Given the description of an element on the screen output the (x, y) to click on. 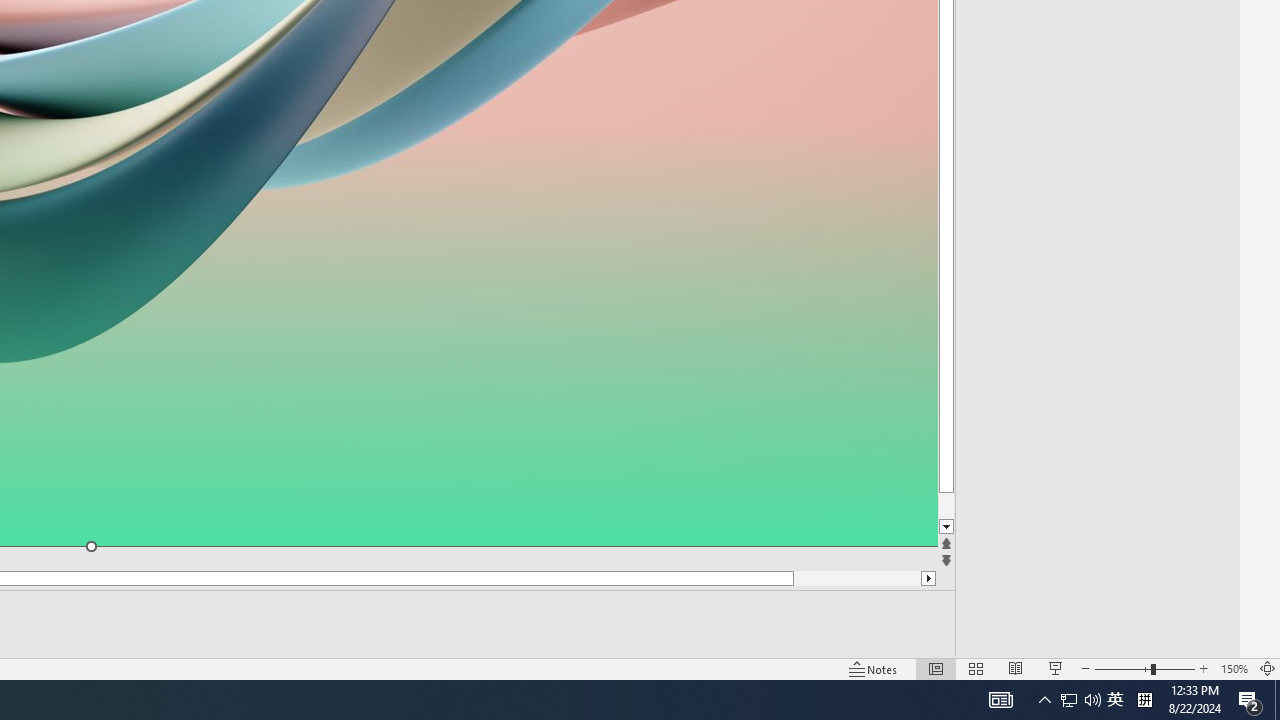
Zoom 150% (1234, 668)
